Given the description of an element on the screen output the (x, y) to click on. 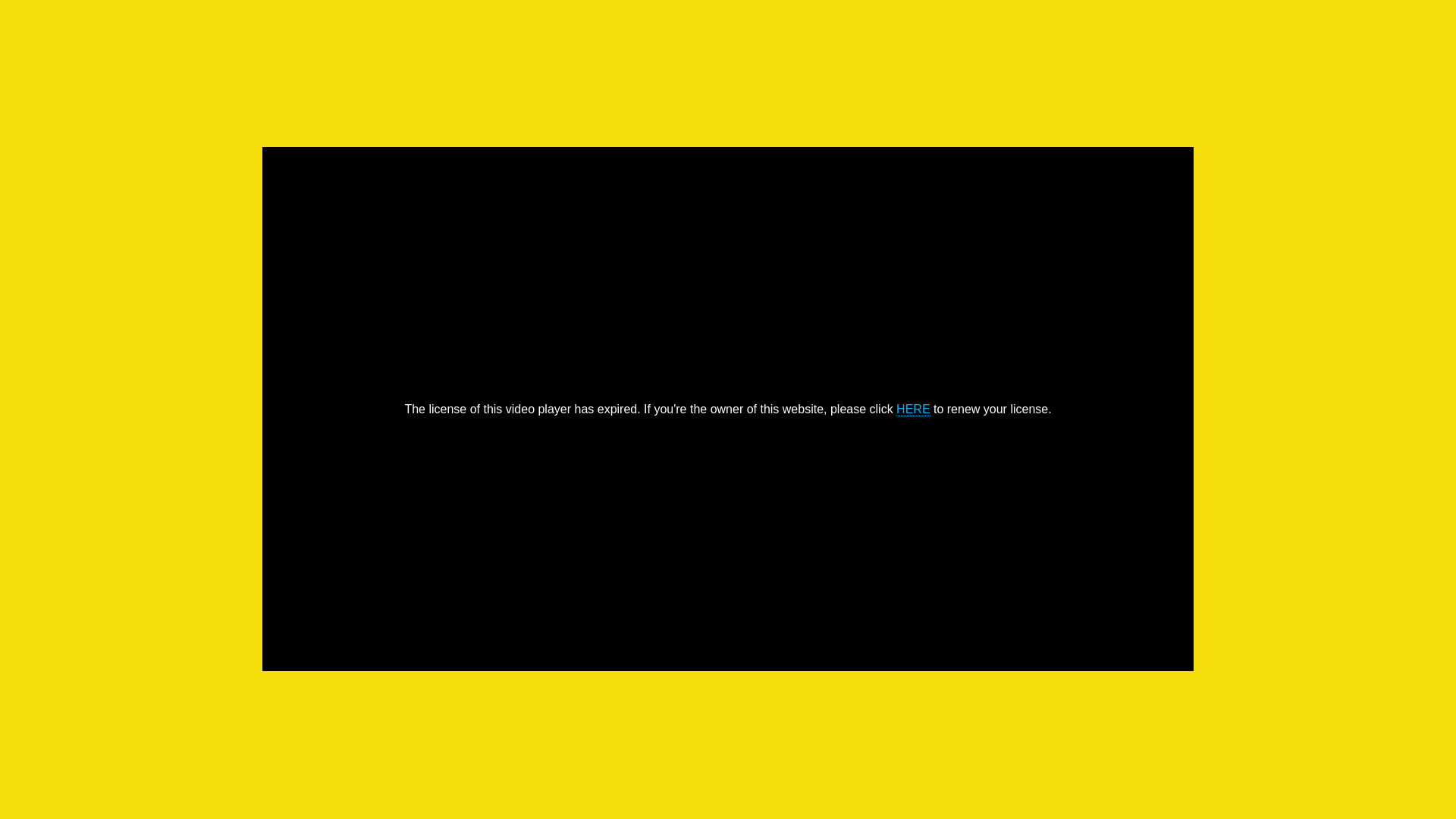
HERE Element type: text (912, 408)
Play Video Element type: text (727, 409)
